Given the description of an element on the screen output the (x, y) to click on. 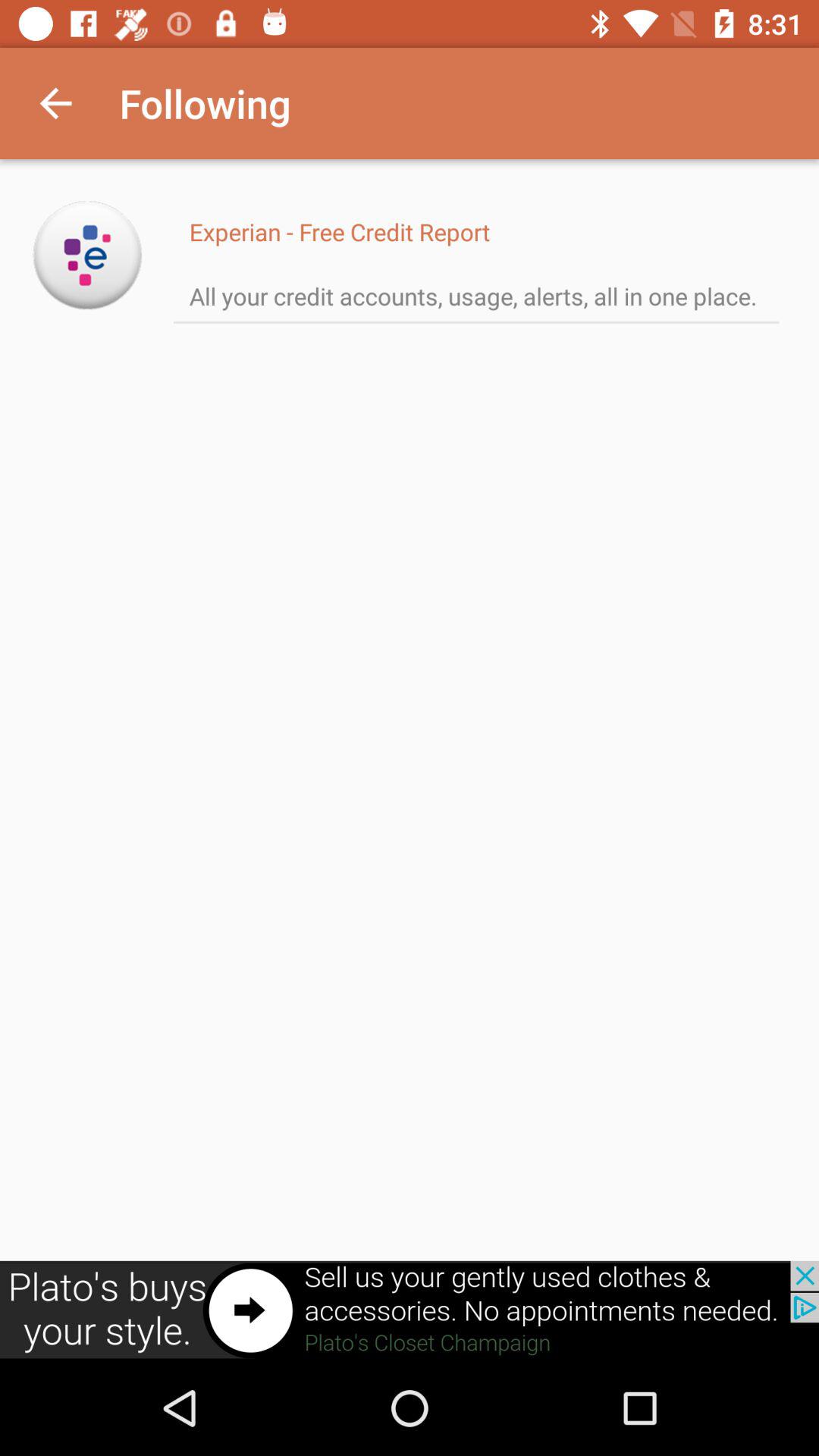
click the advertisement (409, 1310)
